Given the description of an element on the screen output the (x, y) to click on. 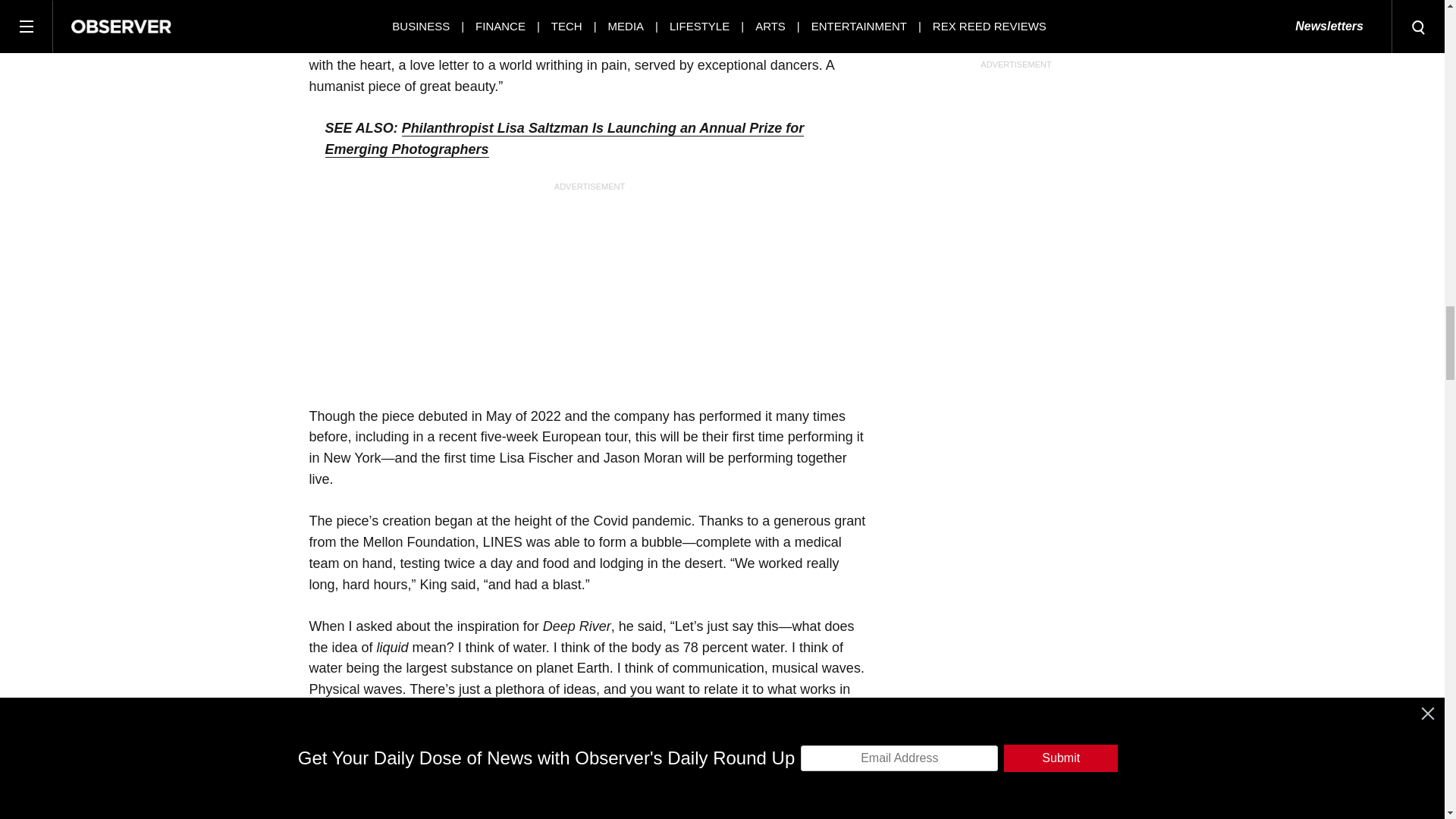
Maurice Ravel (352, 4)
Weldon Johnson (551, 4)
